Given the description of an element on the screen output the (x, y) to click on. 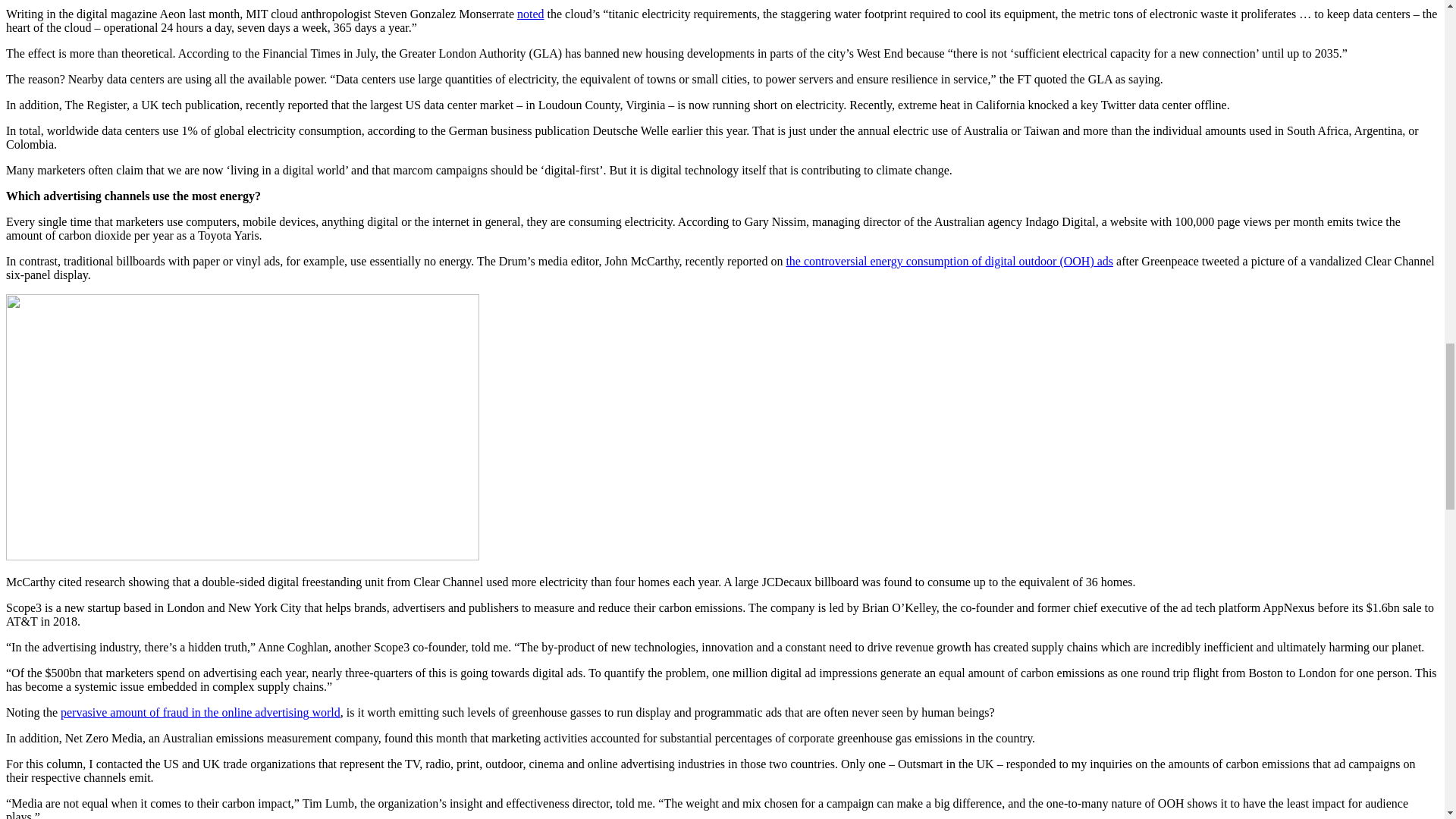
pervasive amount of fraud in the online advertising world (200, 712)
noted (530, 13)
